Given the description of an element on the screen output the (x, y) to click on. 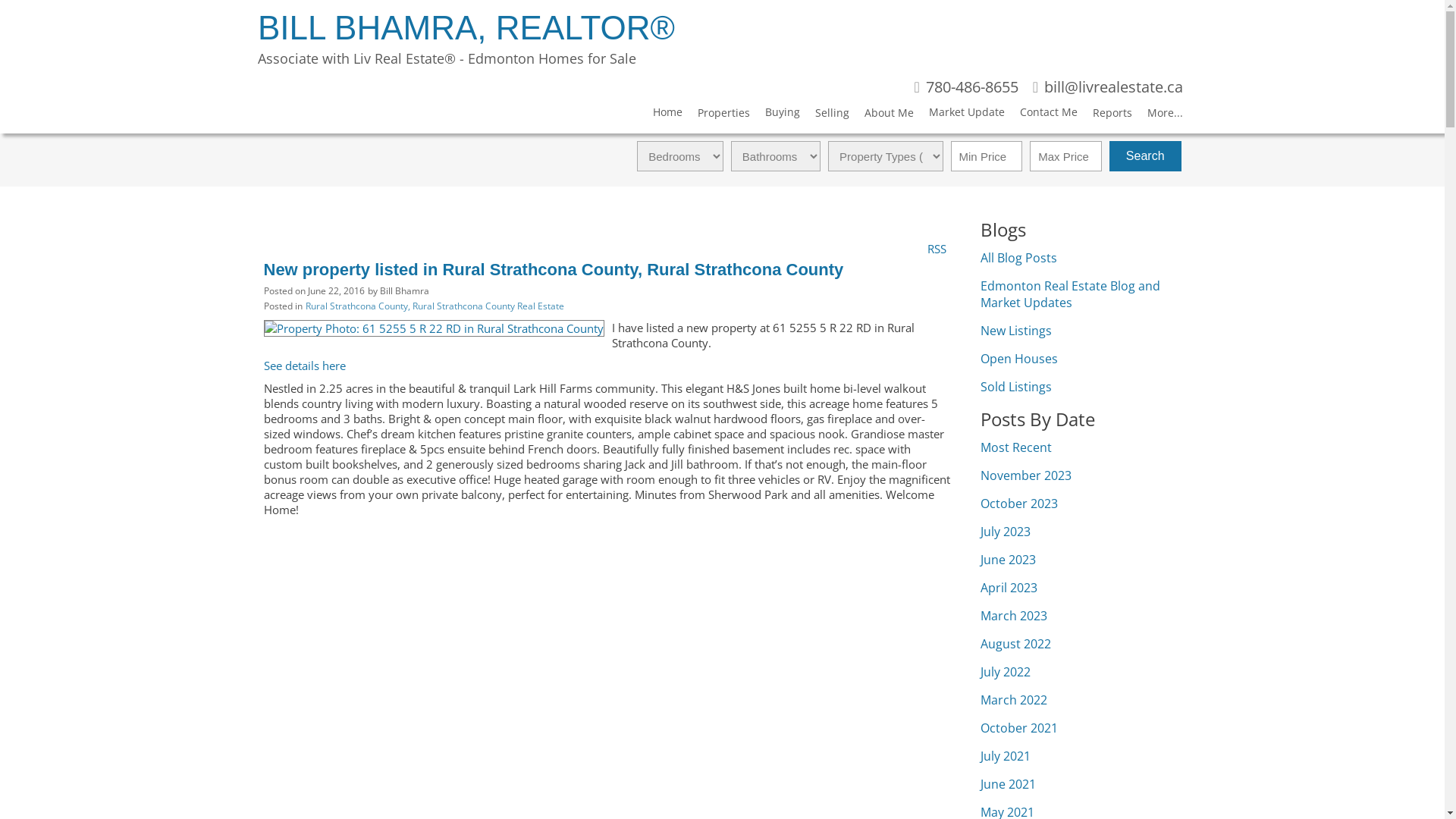
Search Element type: text (1145, 156)
Sold Listings Element type: text (1015, 386)
October 2023 Element type: text (1018, 503)
Edmonton Real Estate Blog and Market Updates Element type: text (1069, 293)
RSS Element type: text (936, 246)
Buying Element type: text (774, 114)
New Listings Element type: text (1015, 330)
March 2023 Element type: text (1012, 615)
March 2022 Element type: text (1012, 699)
Open Houses Element type: text (1018, 358)
More... Element type: text (1157, 115)
October 2021 Element type: text (1018, 727)
Most Recent Element type: text (1015, 447)
July 2021 Element type: text (1004, 755)
Market Update Element type: text (958, 114)
Selling Element type: text (824, 115)
July 2022 Element type: text (1004, 671)
Rural Strathcona County, Rural Strathcona County Real Estate Element type: text (433, 305)
780-486-8655 Element type: text (965, 87)
Contact Me Element type: text (1040, 114)
See details here Element type: text (304, 365)
Reports Element type: text (1104, 115)
All Blog Posts Element type: text (1017, 257)
About Me Element type: text (881, 115)
April 2023 Element type: text (1007, 587)
bill@livrealestate.ca Element type: text (1107, 87)
June 2021 Element type: text (1007, 783)
June 2023 Element type: text (1007, 559)
Properties Element type: text (715, 115)
Home Element type: text (659, 114)
November 2023 Element type: text (1024, 475)
July 2023 Element type: text (1004, 531)
August 2022 Element type: text (1014, 643)
